Given the description of an element on the screen output the (x, y) to click on. 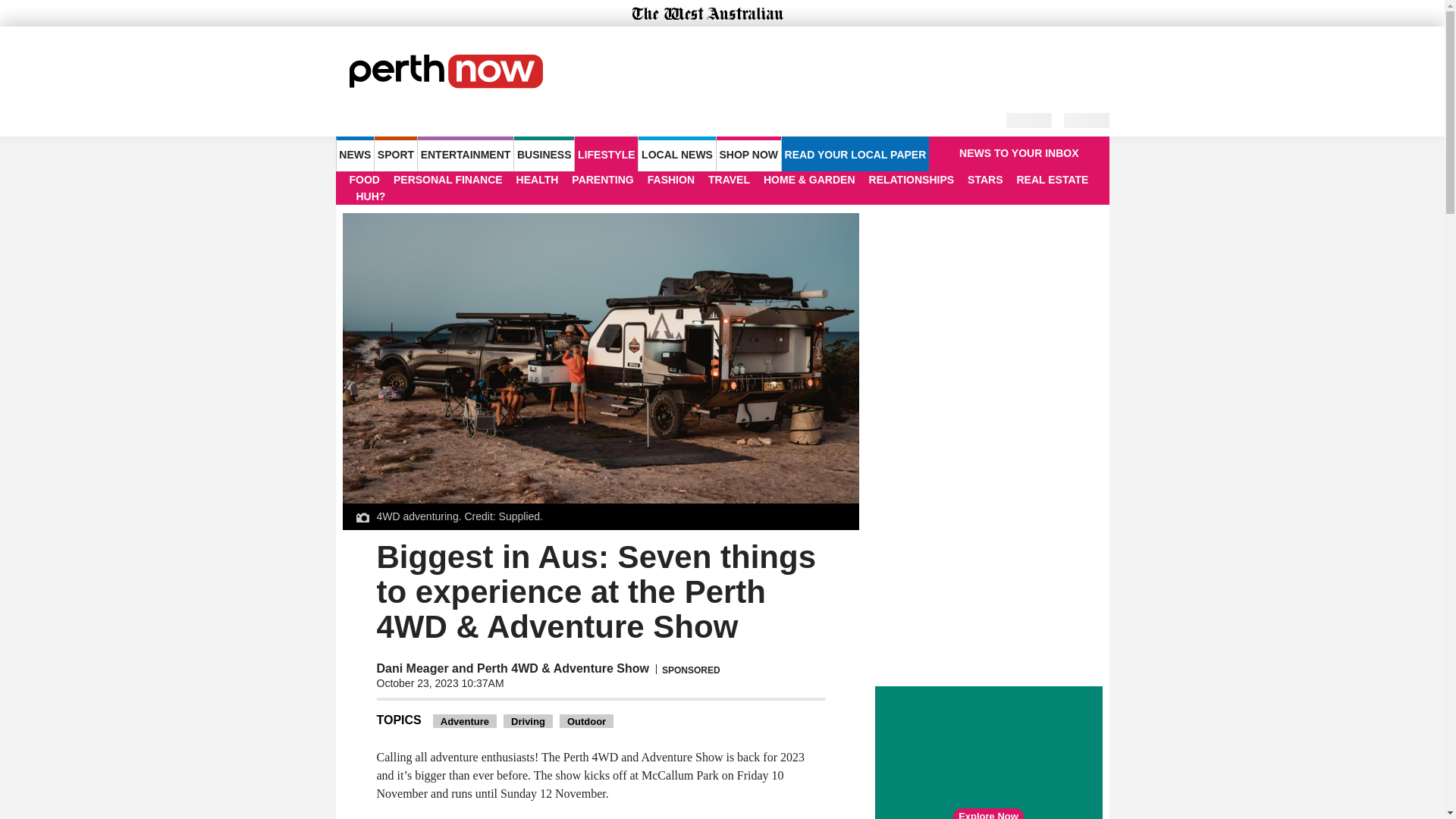
BUSINESS (543, 153)
ENTERTAINMENT (465, 153)
SPORT (395, 153)
NEWS (354, 153)
